Given the description of an element on the screen output the (x, y) to click on. 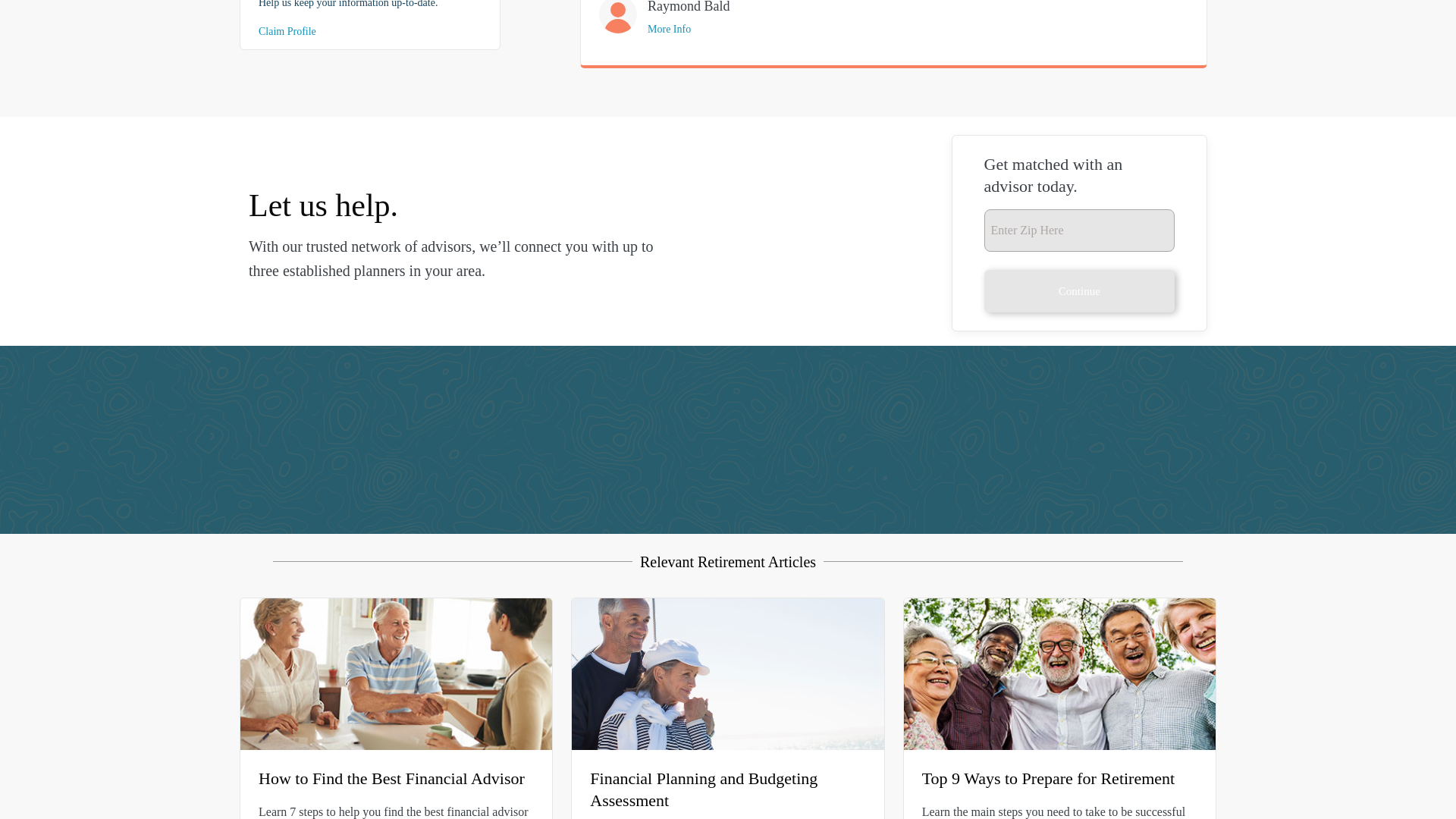
How to Find the Best Financial Advisor (391, 778)
Continue (1079, 291)
More Info (668, 29)
Financial Planning and Budgeting Assessment (702, 789)
Continue (1079, 291)
Claim Profile (287, 30)
